Given the description of an element on the screen output the (x, y) to click on. 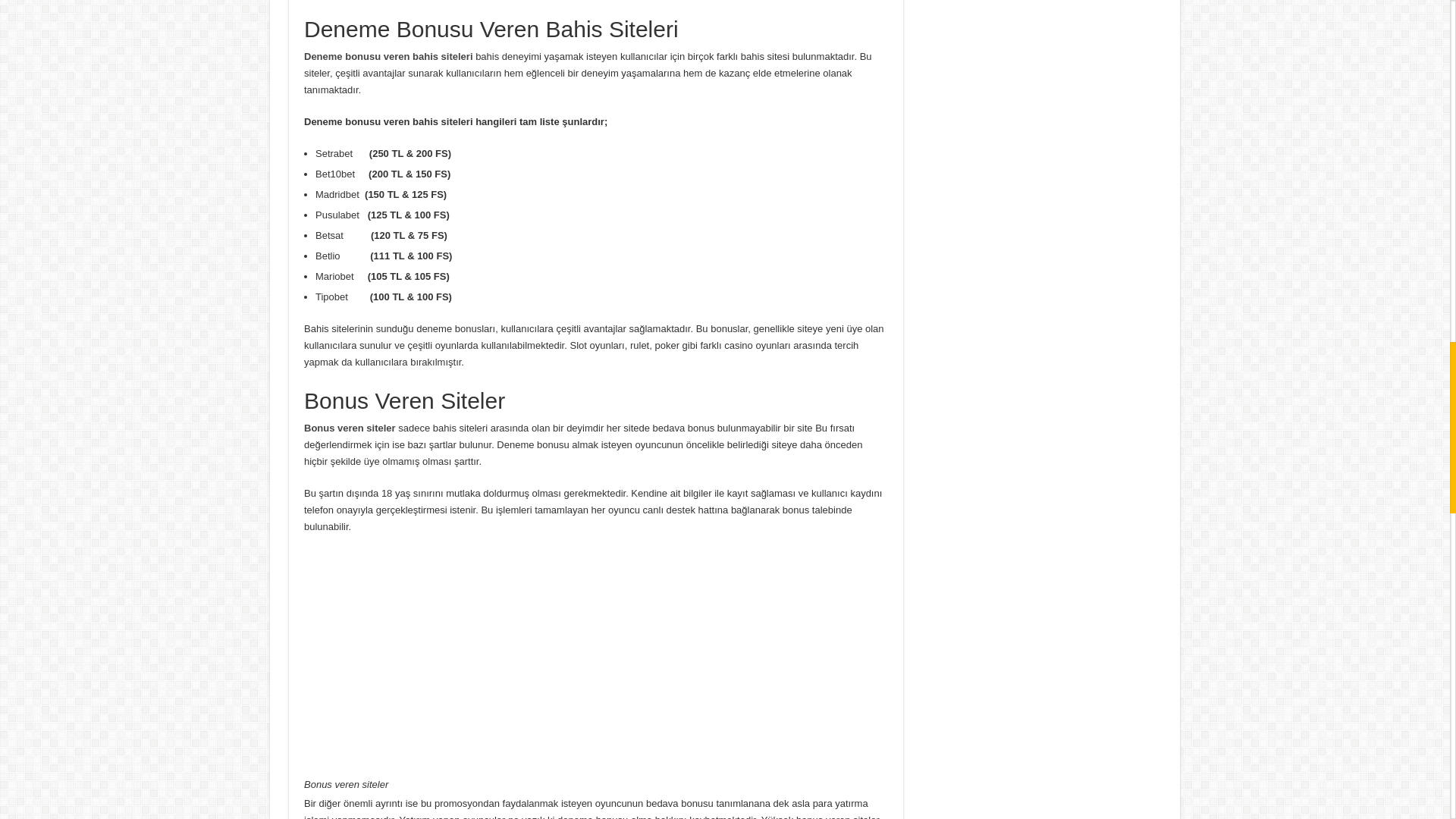
Deneme bonusu veren bahis siteleri (388, 56)
Bonus veren siteler (350, 428)
